Given the description of an element on the screen output the (x, y) to click on. 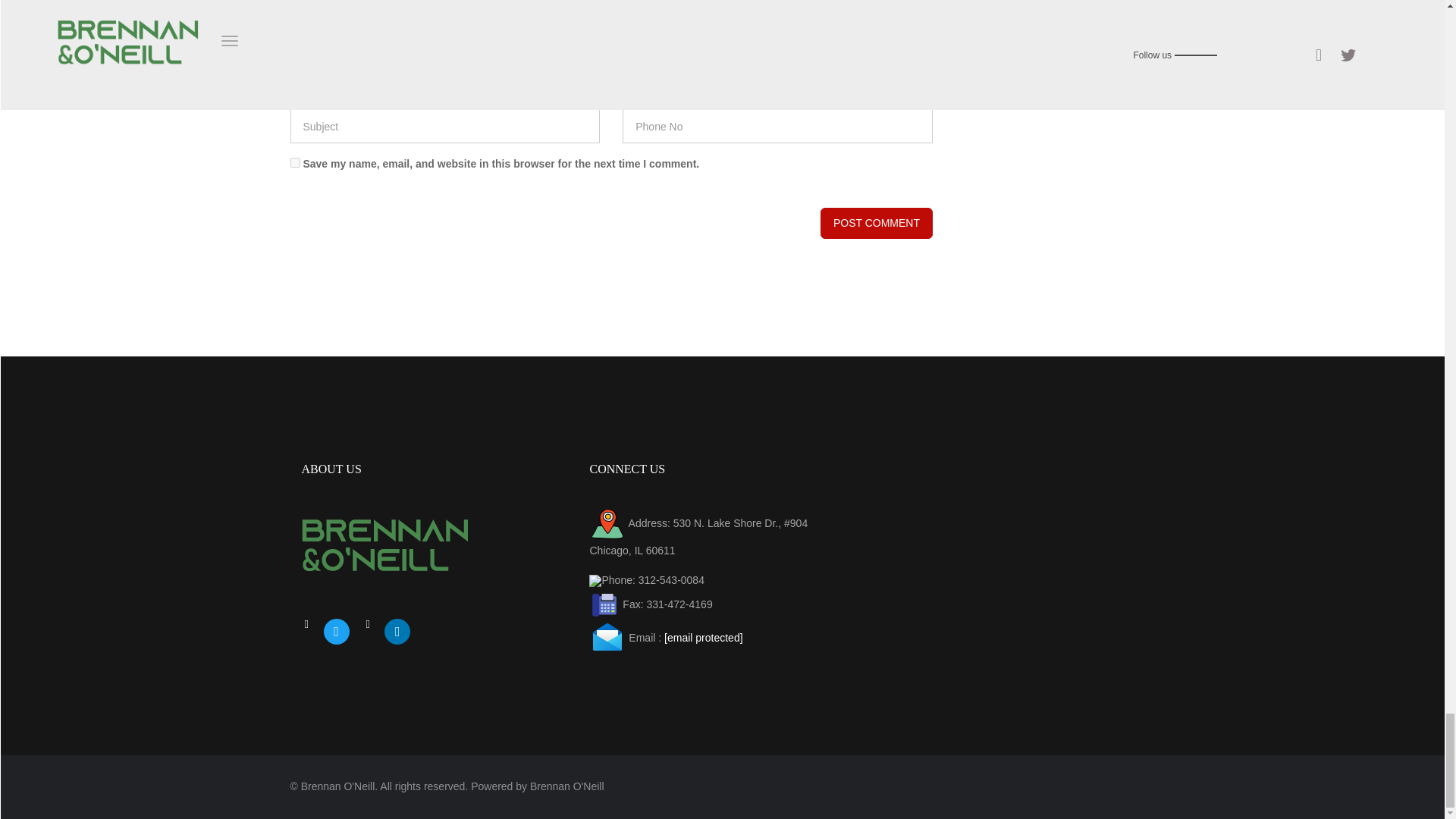
linkedin (397, 630)
yes (294, 162)
Post Comment (877, 223)
twitter (336, 630)
Post Comment (877, 223)
